Given the description of an element on the screen output the (x, y) to click on. 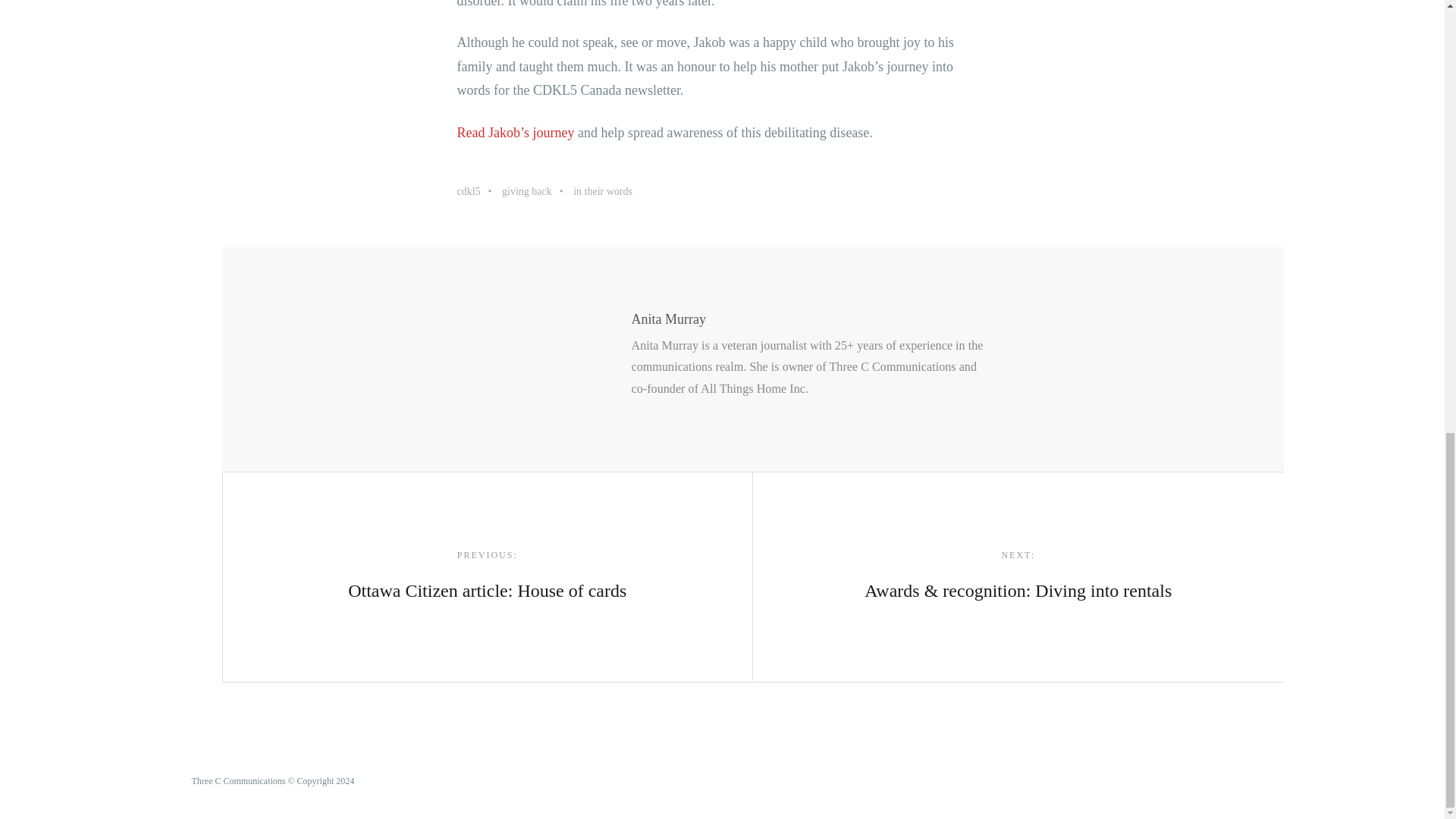
cdkl5 (478, 191)
Anita Murray (487, 576)
giving back (667, 319)
in their words (536, 191)
Posts by Anita Murray (602, 191)
